Given the description of an element on the screen output the (x, y) to click on. 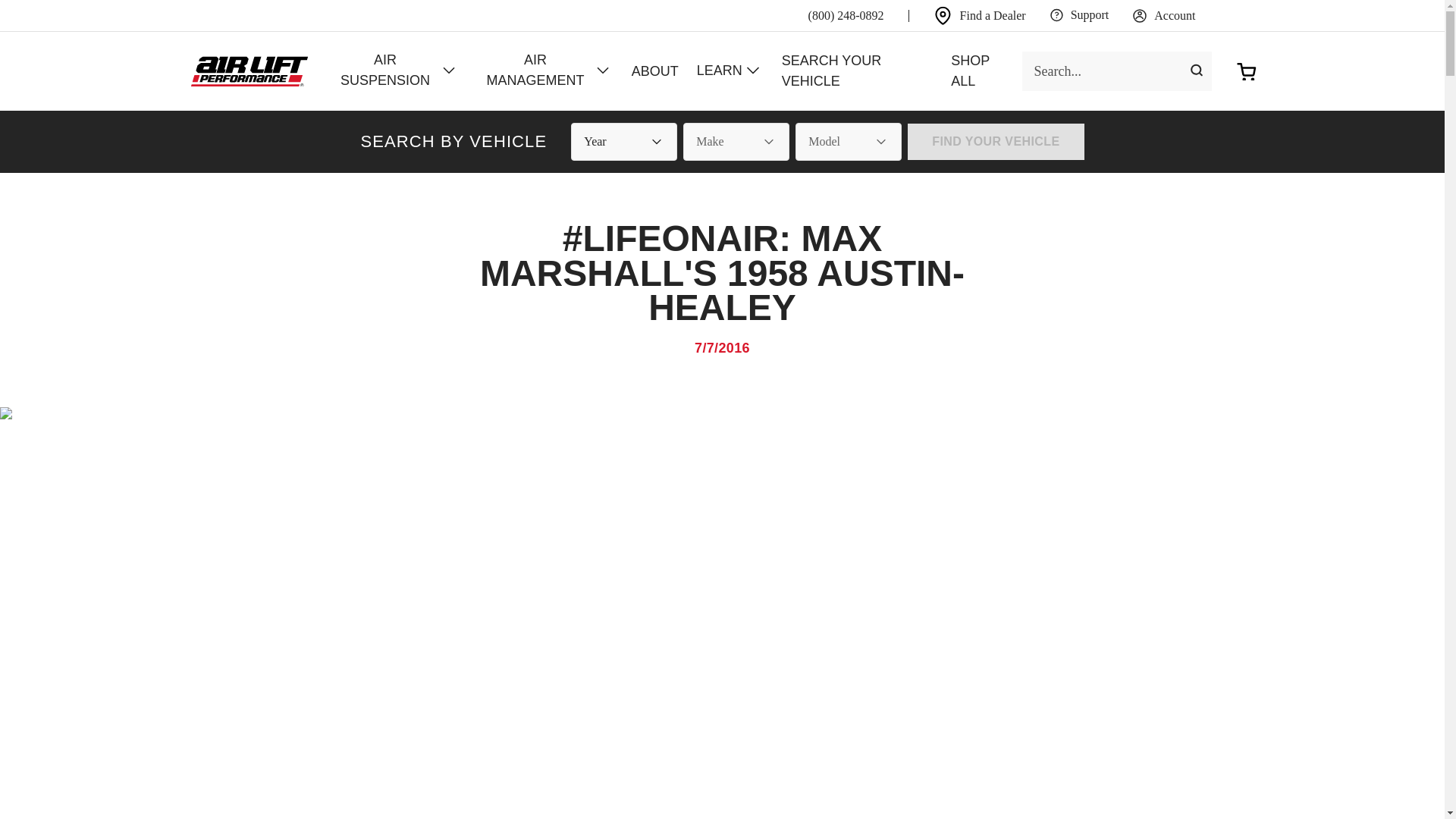
FIND YOUR VEHICLE (995, 141)
Year (623, 141)
Find a Dealer (979, 15)
LEARN (729, 70)
SEARCH YOUR VEHICLE (857, 70)
AIR MANAGEMENT (544, 70)
AIR SUSPENSION (394, 70)
Make (735, 141)
Support (1079, 14)
SHOP ALL (981, 70)
